Given the description of an element on the screen output the (x, y) to click on. 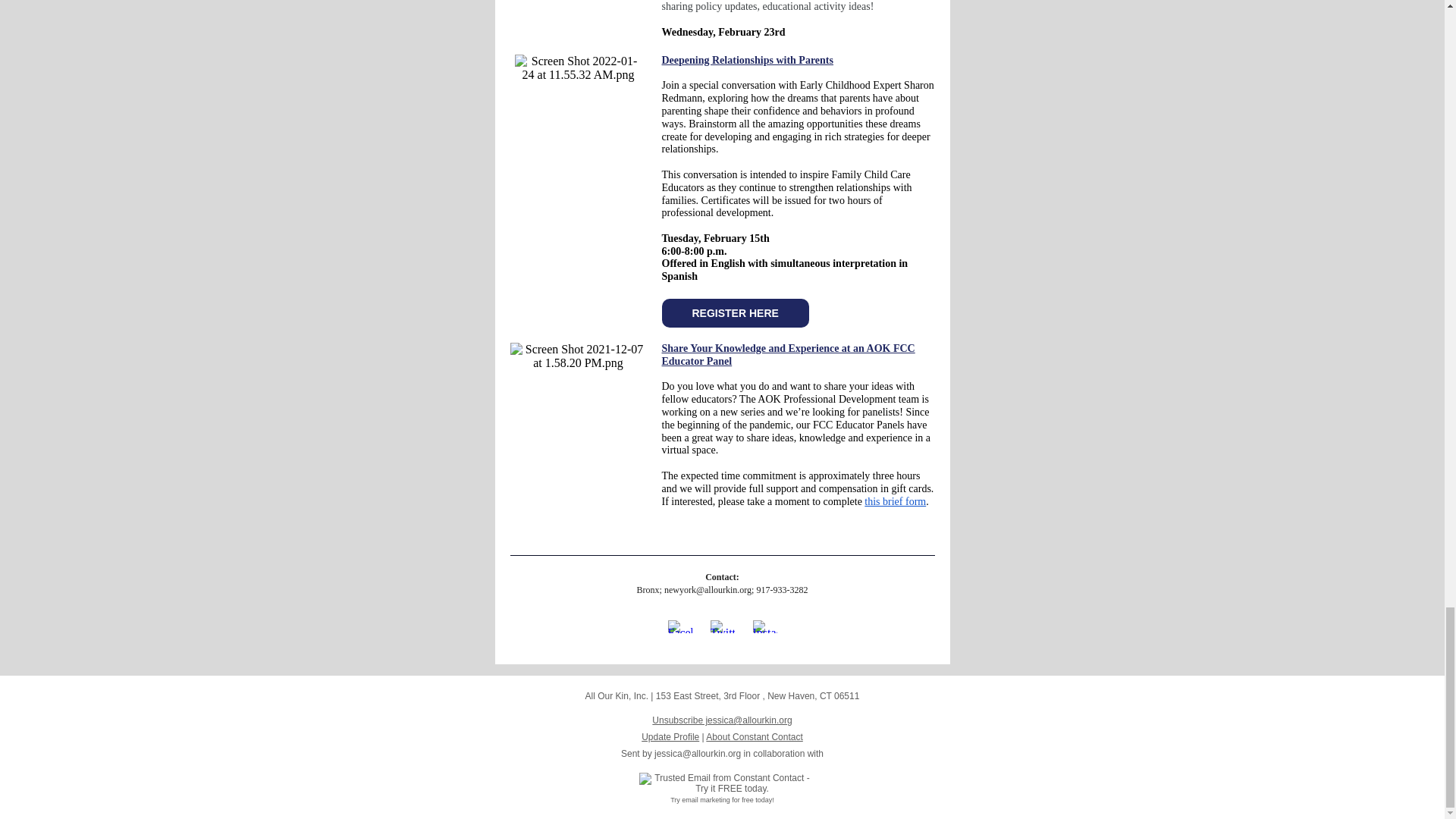
About Constant Contact (754, 737)
Try email marketing for free today! (721, 799)
Update Profile (670, 737)
this brief form (895, 501)
REGISTER HERE (734, 313)
